Given the description of an element on the screen output the (x, y) to click on. 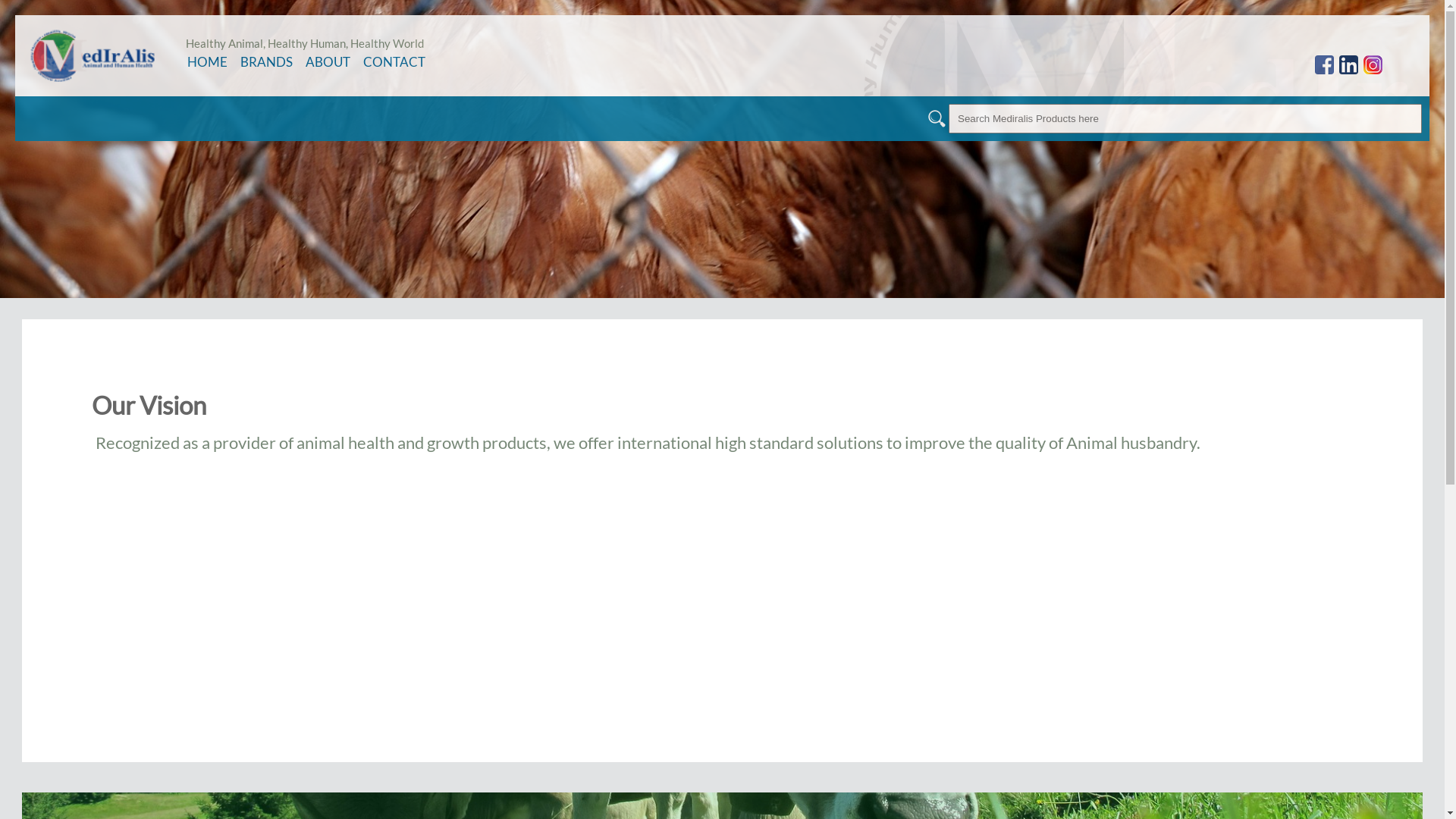
CONTACT Element type: text (394, 61)
Mediralis on Facebook Element type: hover (1323, 64)
HOME Element type: text (207, 61)
Mediralis on Linkedin Element type: hover (1348, 64)
ABOUT Element type: text (327, 61)
BRANDS Element type: text (266, 61)
Mediralis on Instagram Element type: hover (1372, 64)
